Given the description of an element on the screen output the (x, y) to click on. 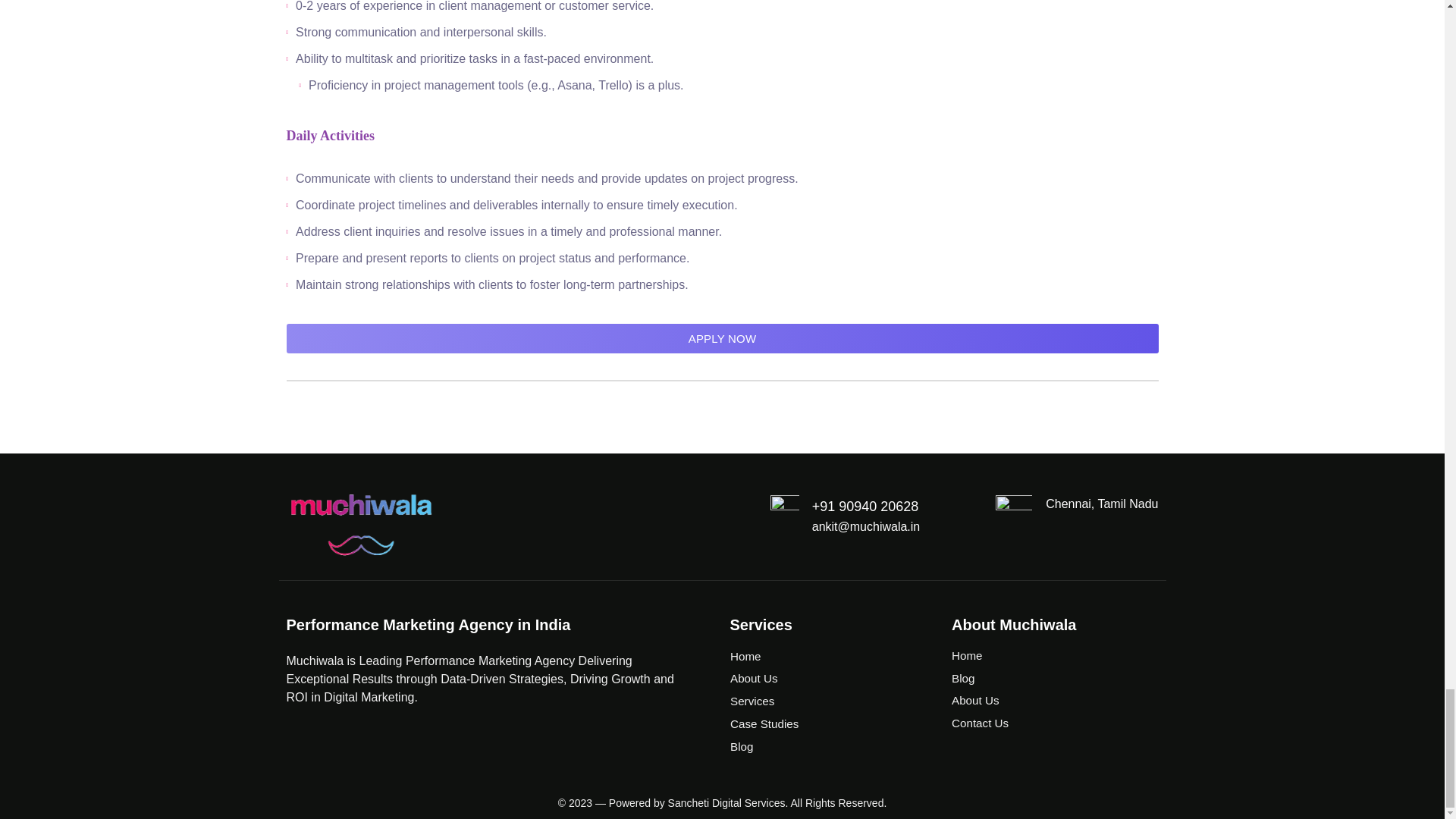
APPLY NOW (722, 337)
